Given the description of an element on the screen output the (x, y) to click on. 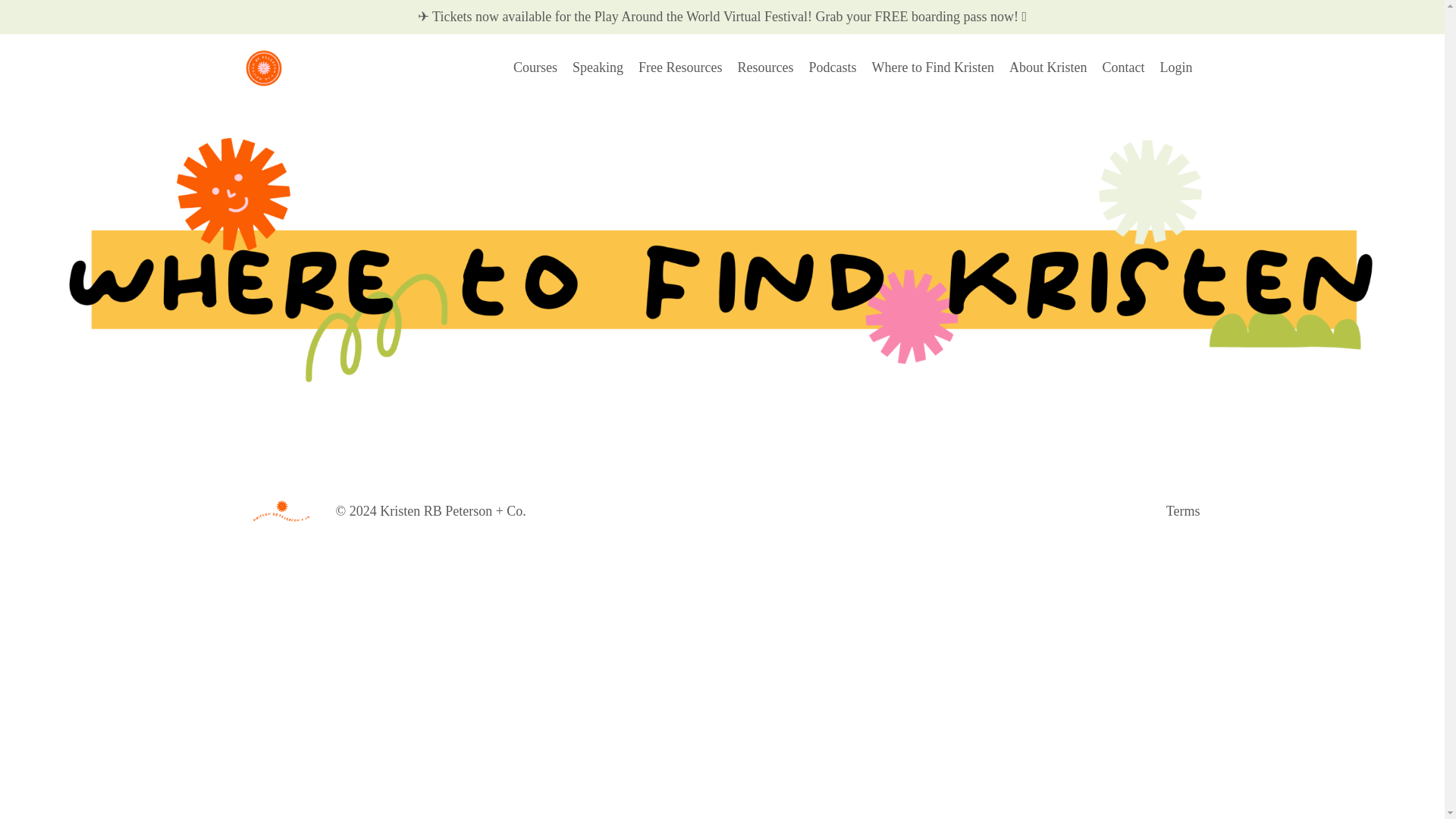
About Kristen (1048, 67)
Courses (535, 67)
Free Resources (680, 67)
Podcasts (833, 67)
Where to Find Kristen (933, 67)
Resources (765, 67)
Contact (1123, 67)
Speaking (597, 67)
Login (1176, 67)
Terms (1182, 511)
